Given the description of an element on the screen output the (x, y) to click on. 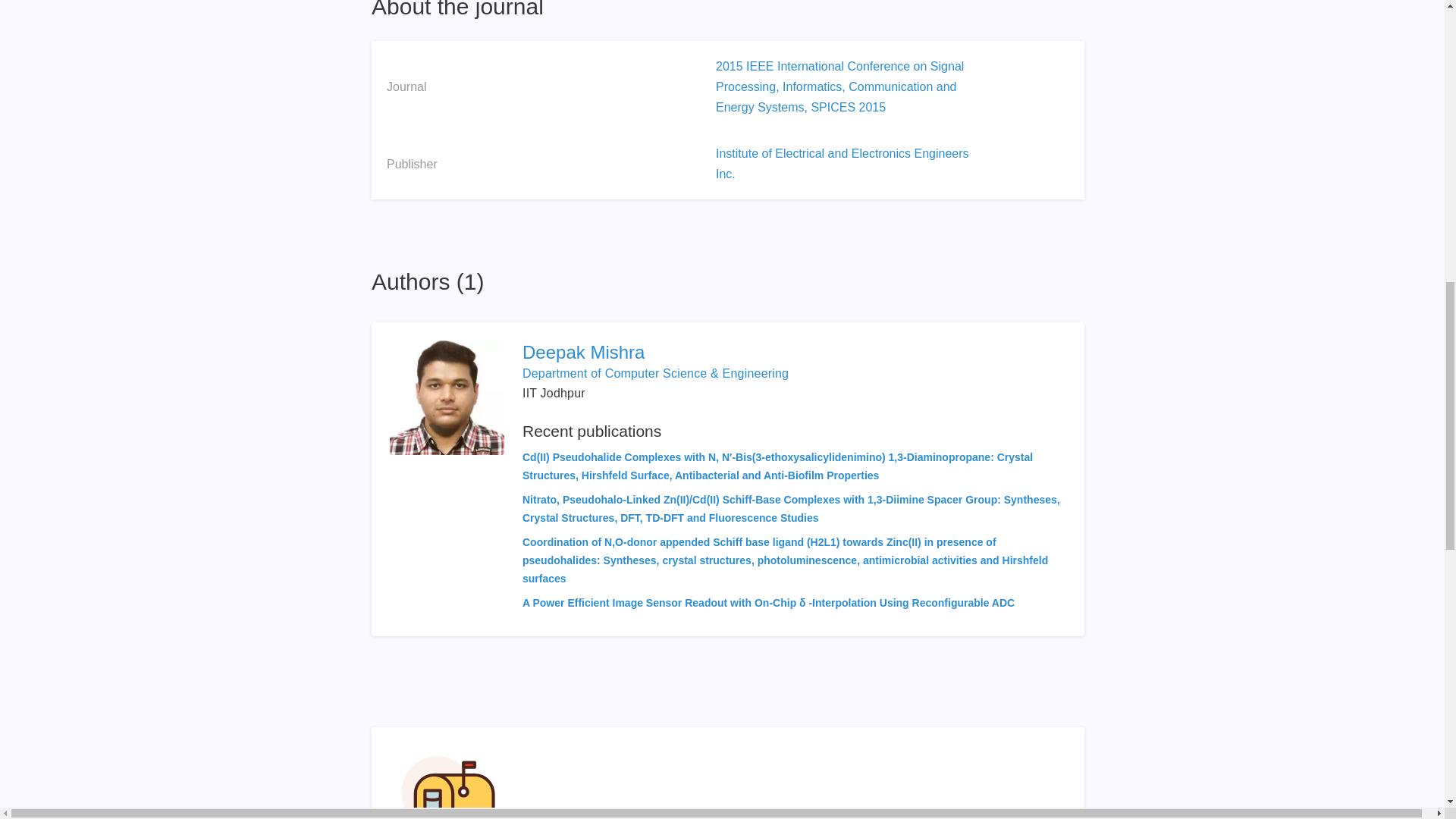
Deepak Mishra (793, 352)
Subscribe form hero illustration (448, 782)
Institute of Electrical and Electronics Engineers Inc. (842, 163)
